Given the description of an element on the screen output the (x, y) to click on. 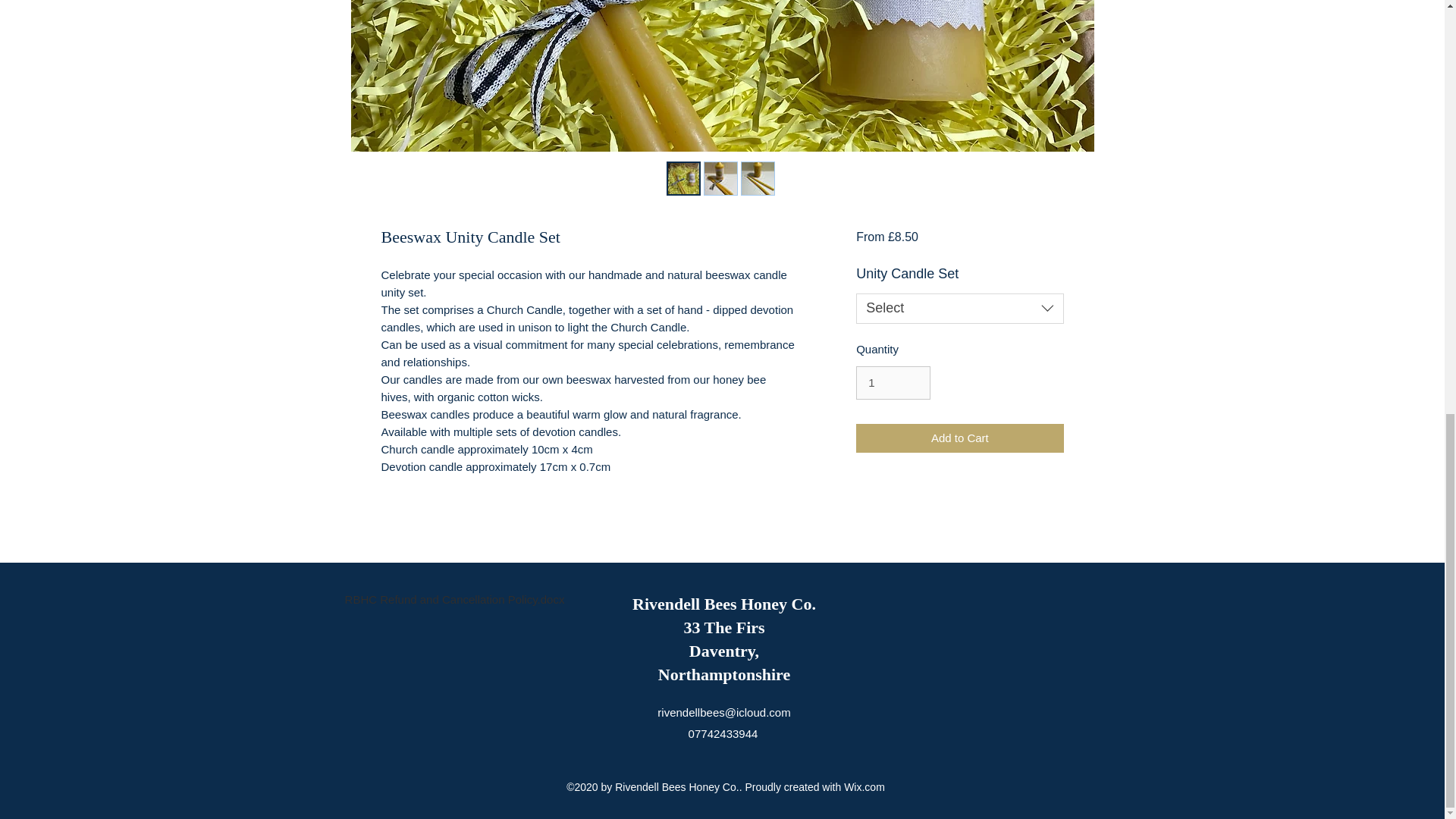
Rivendell Bees Honey Co. (723, 603)
Add to Cart (959, 438)
RBHC Refund and Cancellation Policy.docx (453, 586)
RBHC Refund and Cancellation Policy.docx (453, 586)
Select (959, 308)
1 (893, 382)
